Given the description of an element on the screen output the (x, y) to click on. 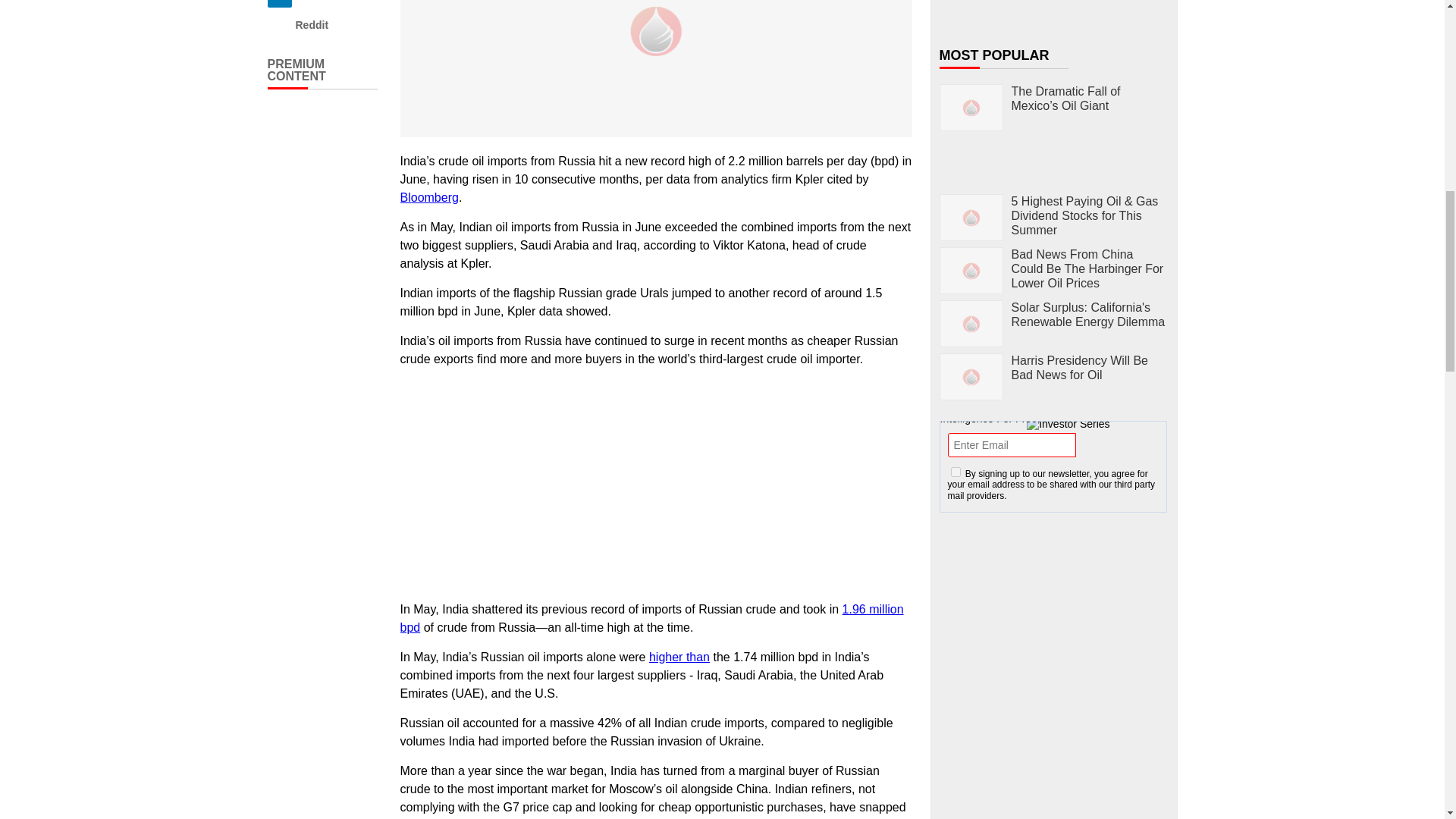
1 (955, 471)
